Given the description of an element on the screen output the (x, y) to click on. 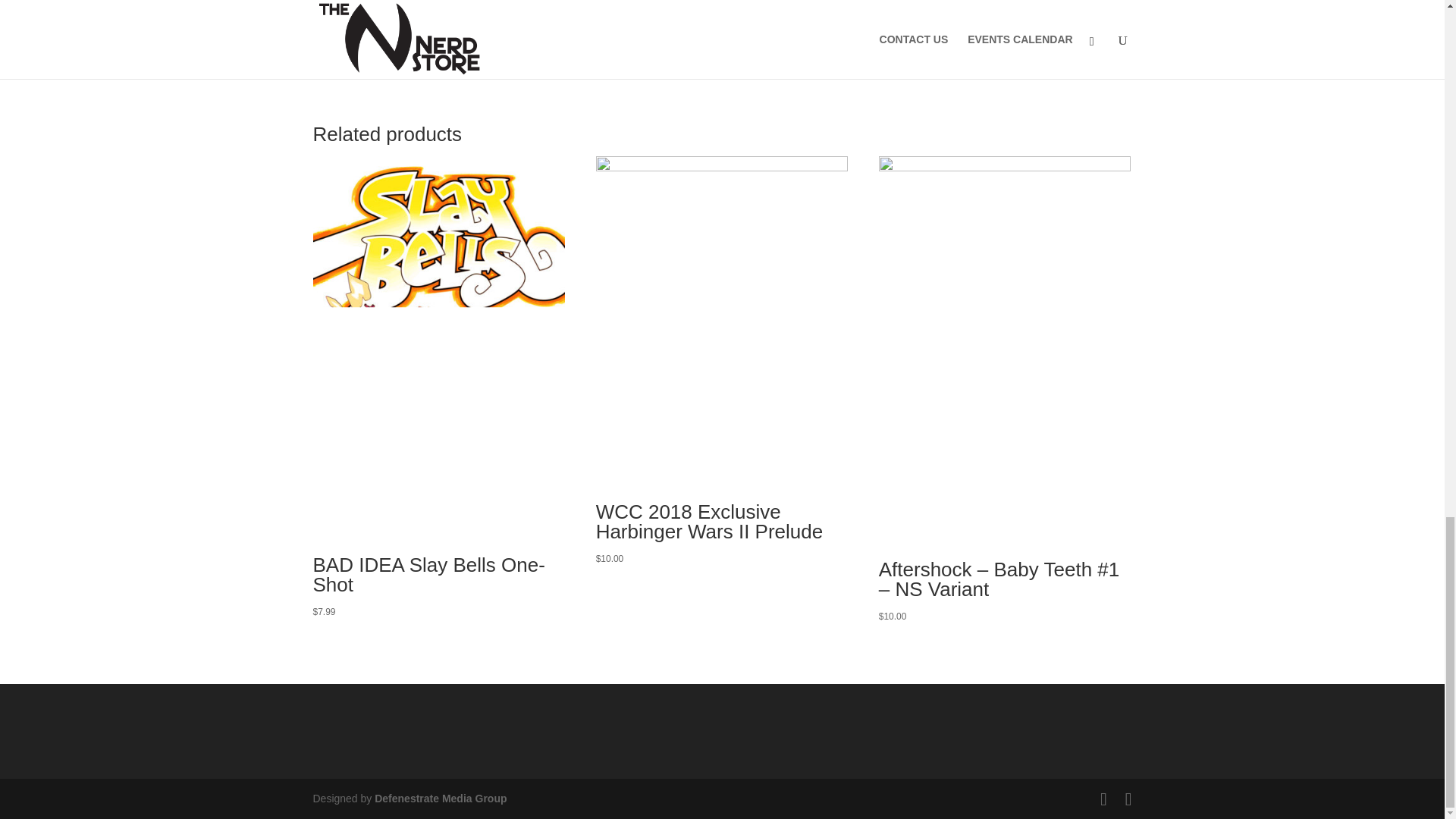
Defenestrate Media Group (440, 798)
